Given the description of an element on the screen output the (x, y) to click on. 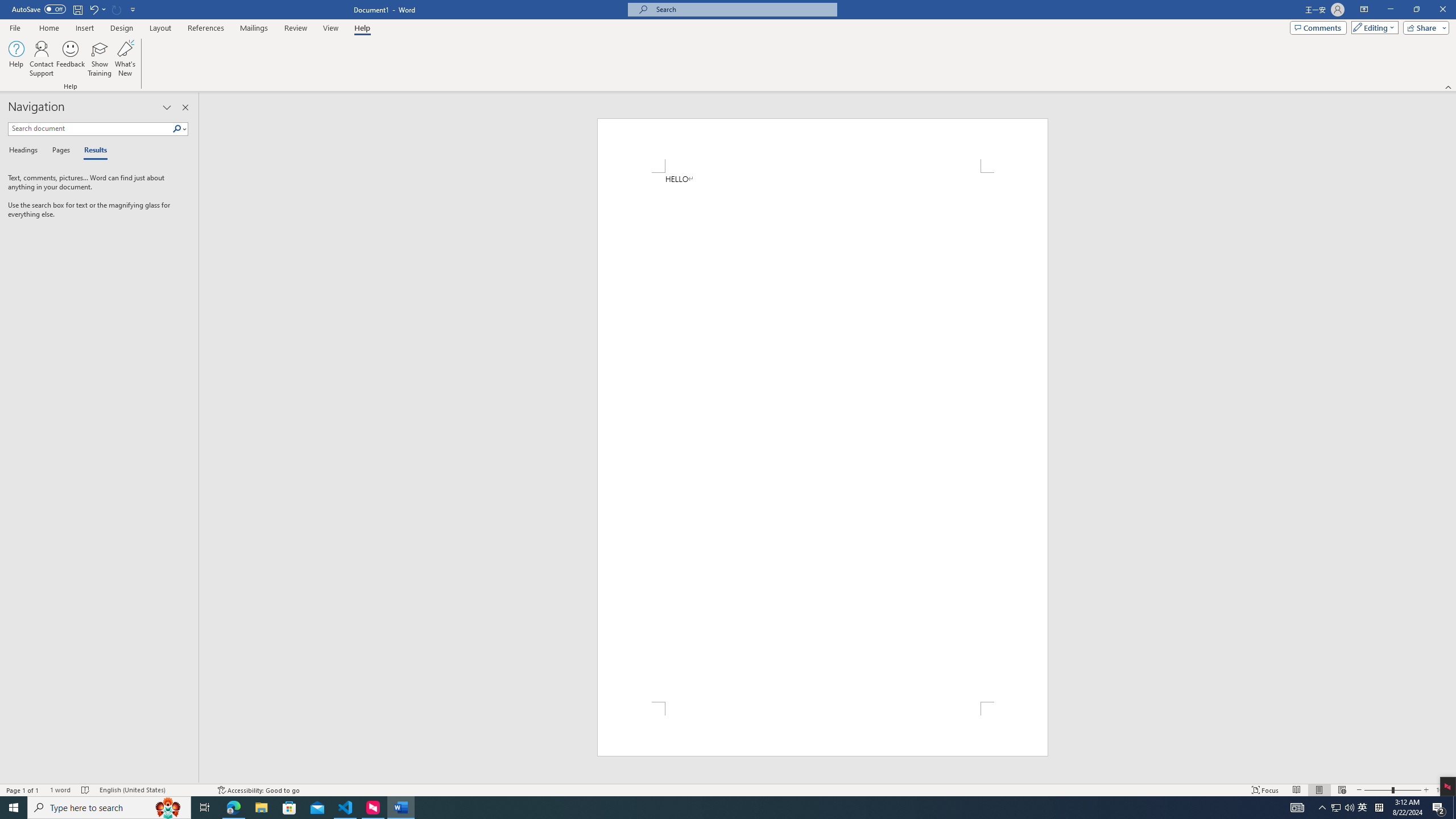
AutoSave (38, 9)
Class: MsoCommandBar (728, 789)
Class: NetUIImage (177, 128)
Show Training (99, 58)
Layout (160, 28)
Repeat Copy (117, 9)
Close (1442, 9)
Read Mode (1296, 790)
Zoom Out (1377, 790)
Help (16, 58)
Customize Quick Access Toolbar (133, 9)
Print Layout (1318, 790)
Task Pane Options (167, 107)
Search (179, 128)
Pages (59, 150)
